Given the description of an element on the screen output the (x, y) to click on. 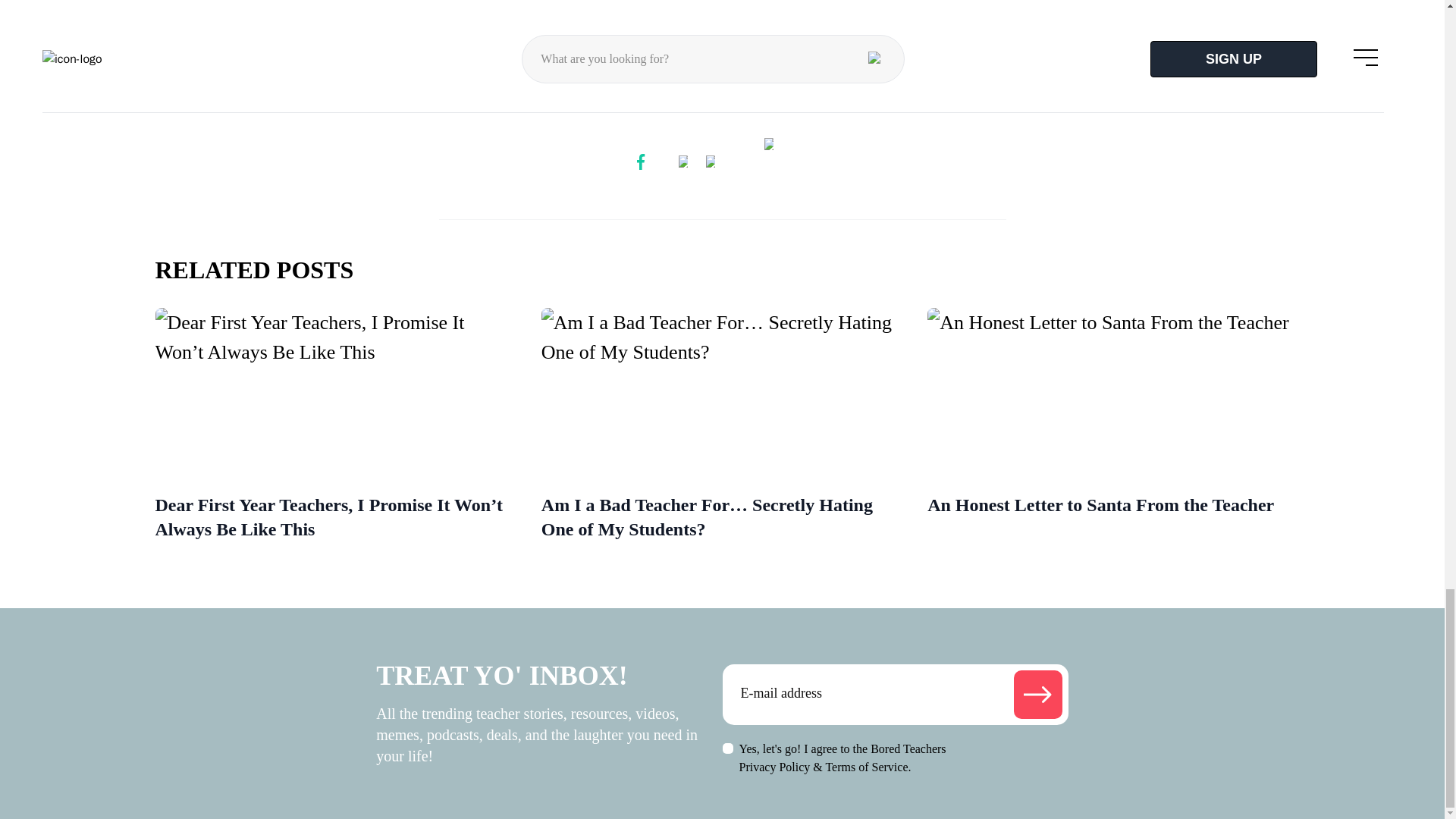
Terms of Service (866, 766)
Privacy Policy (773, 766)
An Honest Letter to Santa From the Teacher (1107, 504)
on (727, 747)
